Given the description of an element on the screen output the (x, y) to click on. 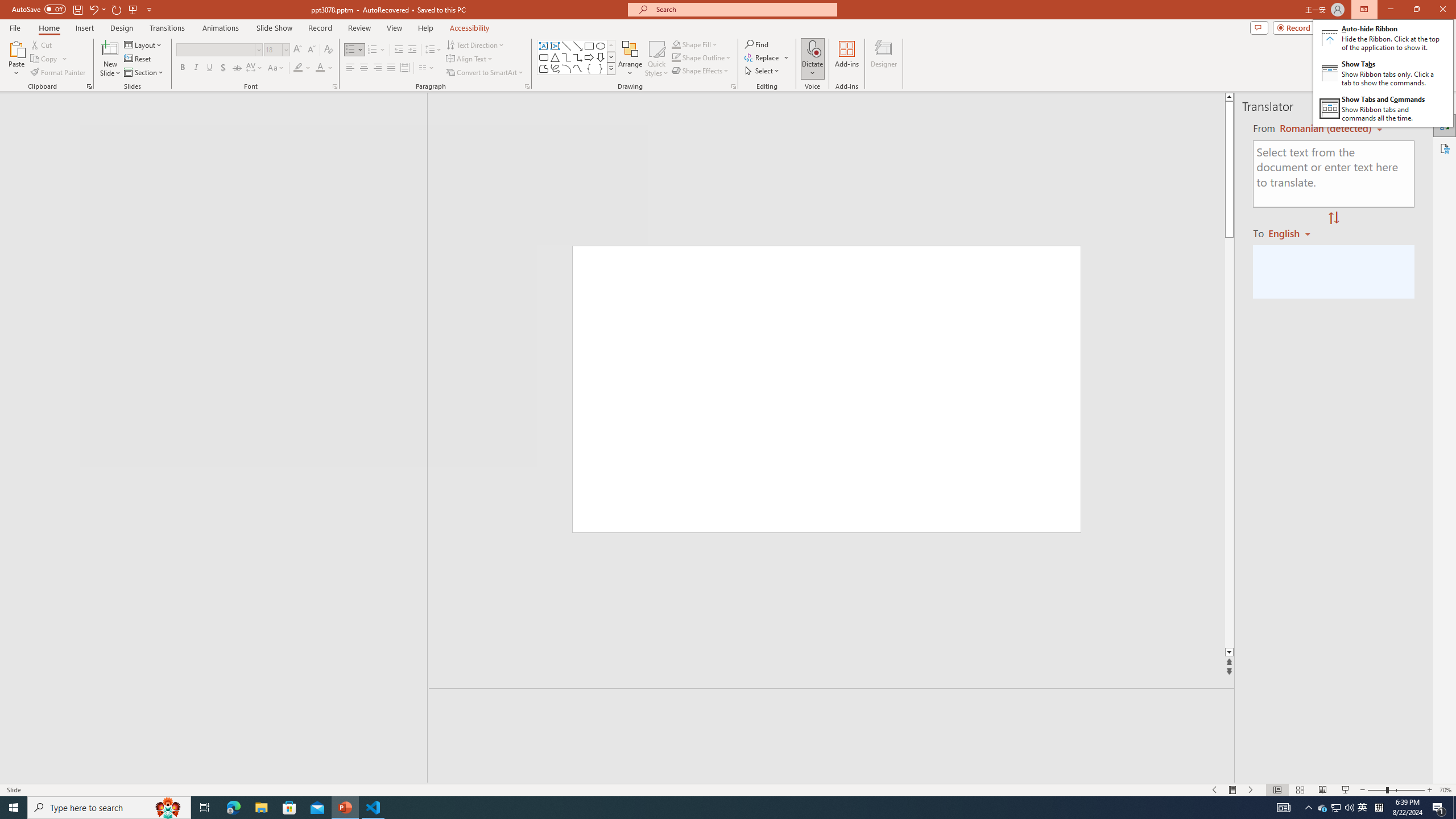
Menu On (1232, 790)
